Given the description of an element on the screen output the (x, y) to click on. 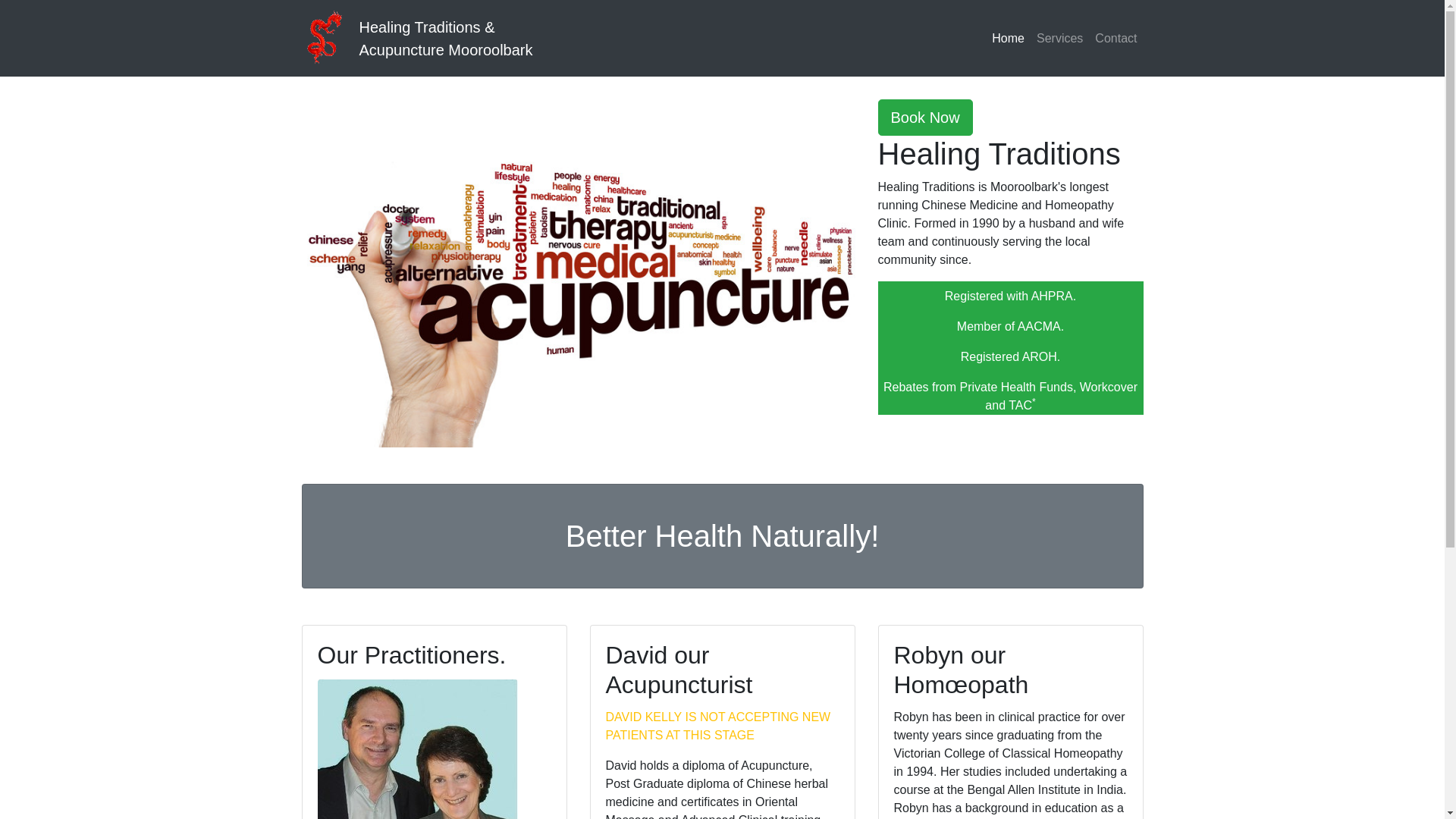
Services Element type: text (1059, 37)
Contact Element type: text (1115, 37)
Home
(current) Element type: text (1007, 37)
Book Now Element type: text (925, 117)
